Given the description of an element on the screen output the (x, y) to click on. 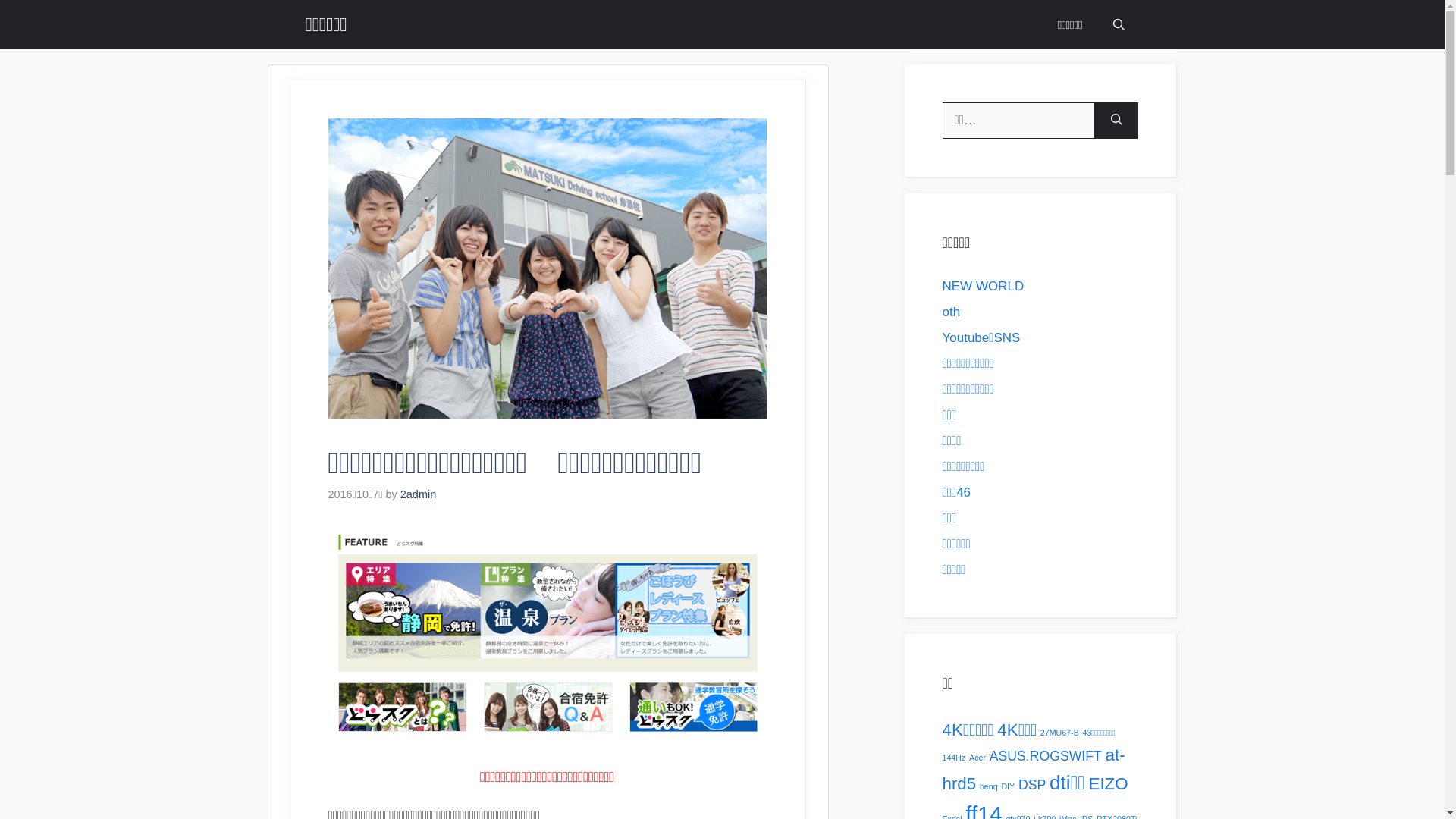
27MU67-B Element type: text (1059, 732)
benq Element type: text (988, 785)
144Hz Element type: text (953, 757)
EIZO Element type: text (1108, 783)
DIY Element type: text (1007, 785)
DSP Element type: text (1031, 784)
ASUS.ROGSWIFT Element type: text (1045, 755)
at-hrd5 Element type: text (1032, 768)
2admin Element type: text (418, 494)
NEW WORLD Element type: text (982, 286)
oth Element type: text (950, 311)
Acer Element type: text (977, 757)
